Given the description of an element on the screen output the (x, y) to click on. 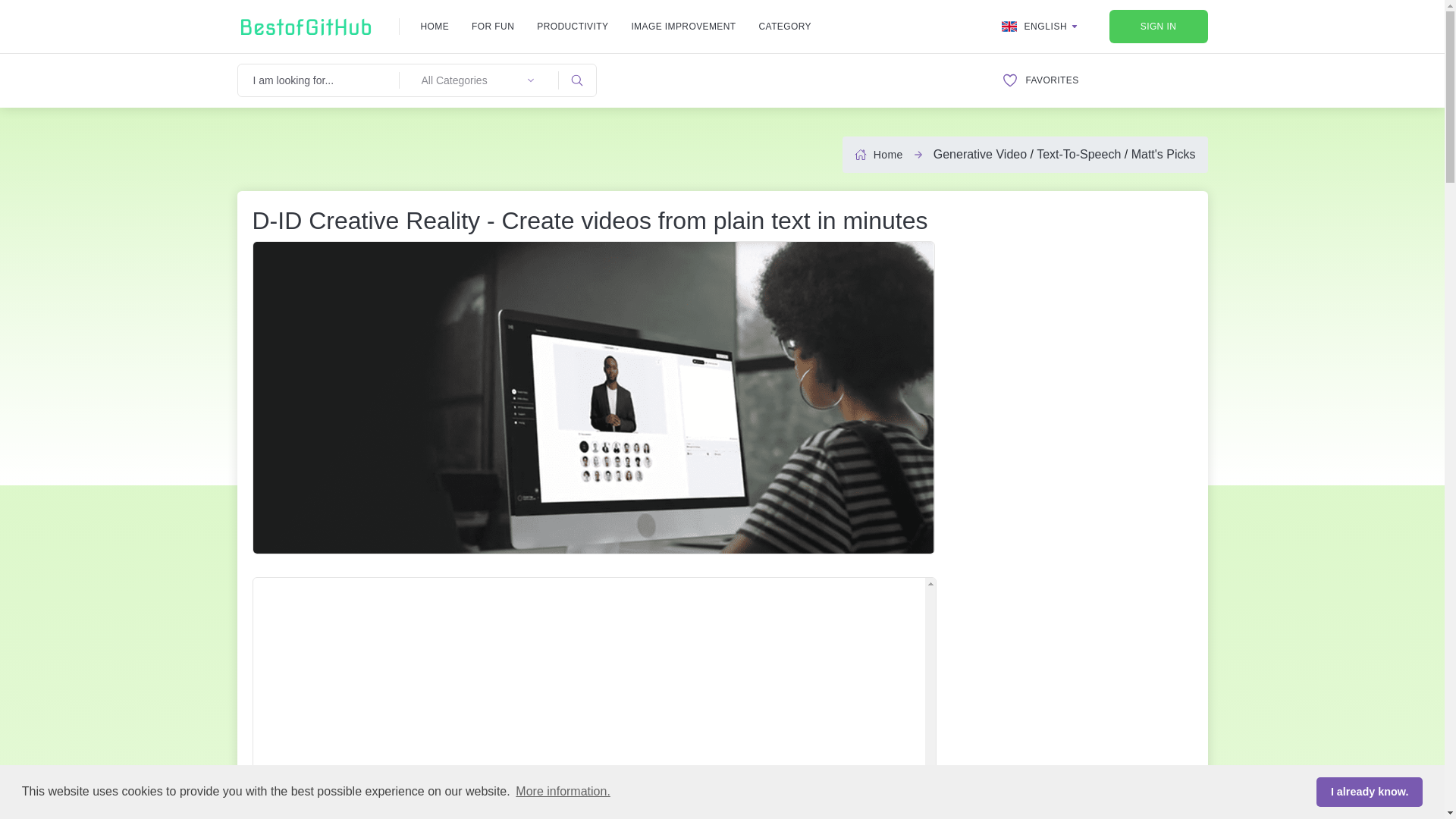
Text-To-Speech (1078, 154)
CATEGORY (784, 26)
FOR FUN (492, 26)
I already know. (1369, 791)
IMAGE IMPROVEMENT (682, 26)
More information. (562, 791)
ENGLISH (1039, 26)
HOME (434, 26)
Generative Video (979, 154)
PRODUCTIVITY (572, 26)
